Given the description of an element on the screen output the (x, y) to click on. 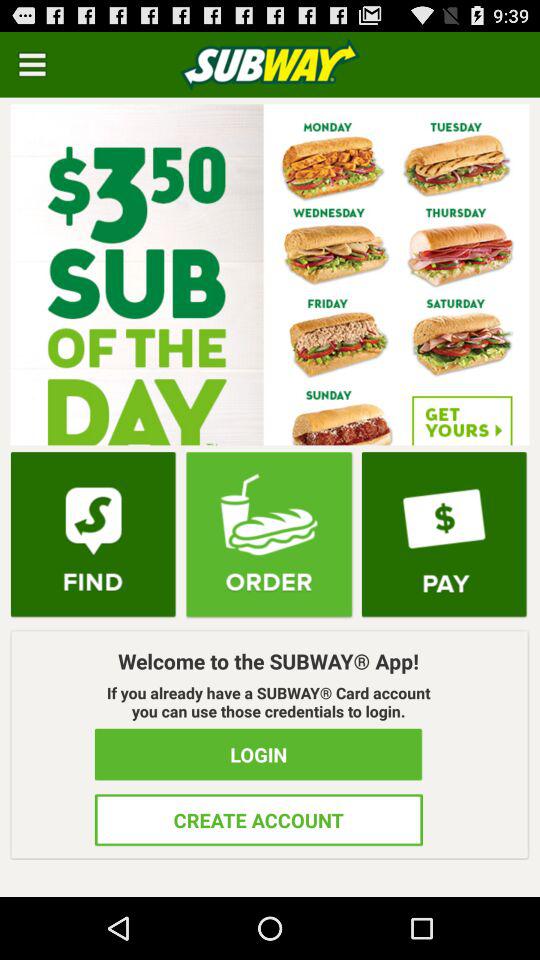
get 3.50 sub of the day (269, 274)
